Given the description of an element on the screen output the (x, y) to click on. 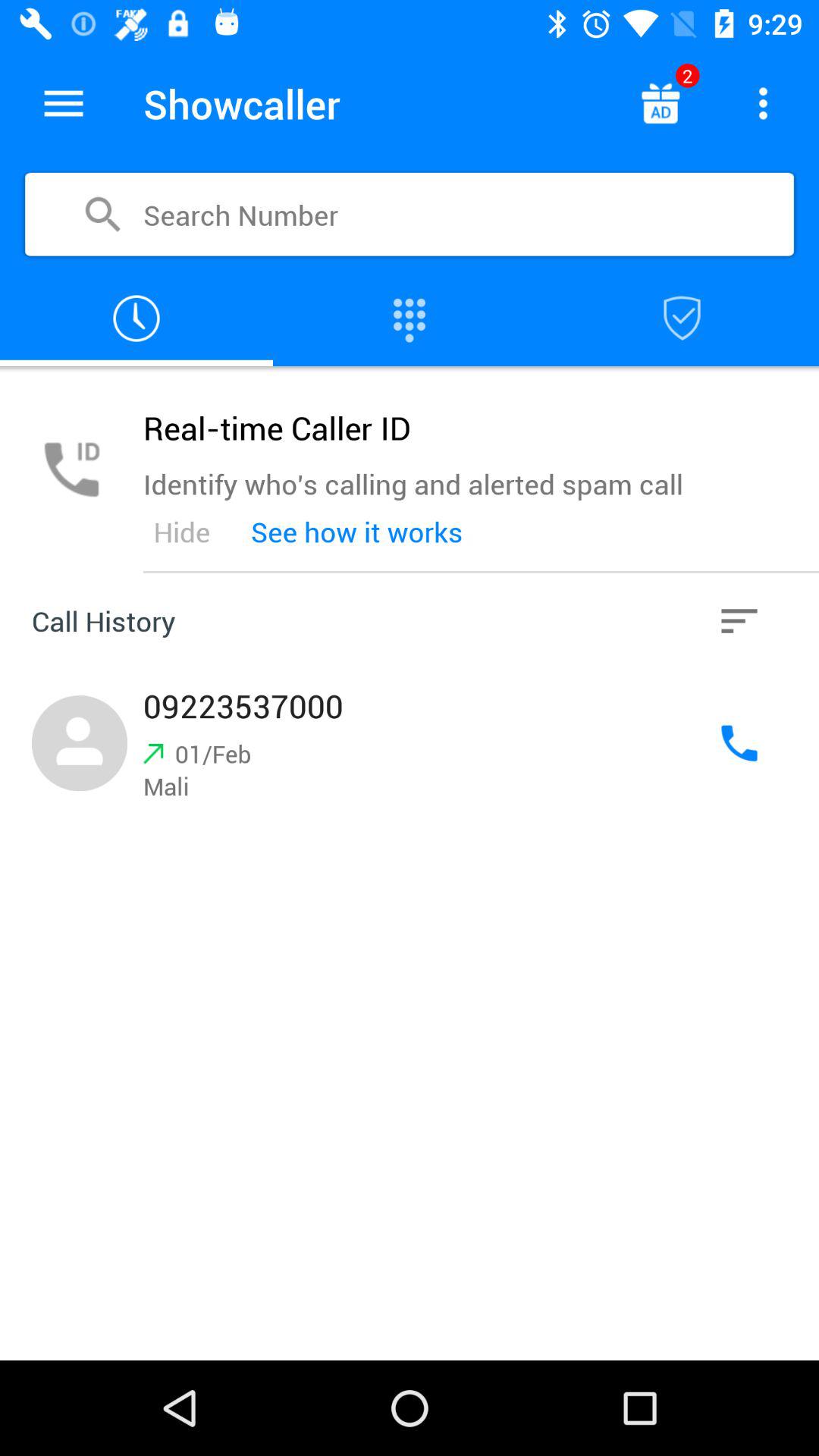
jump until hide item (181, 531)
